Given the description of an element on the screen output the (x, y) to click on. 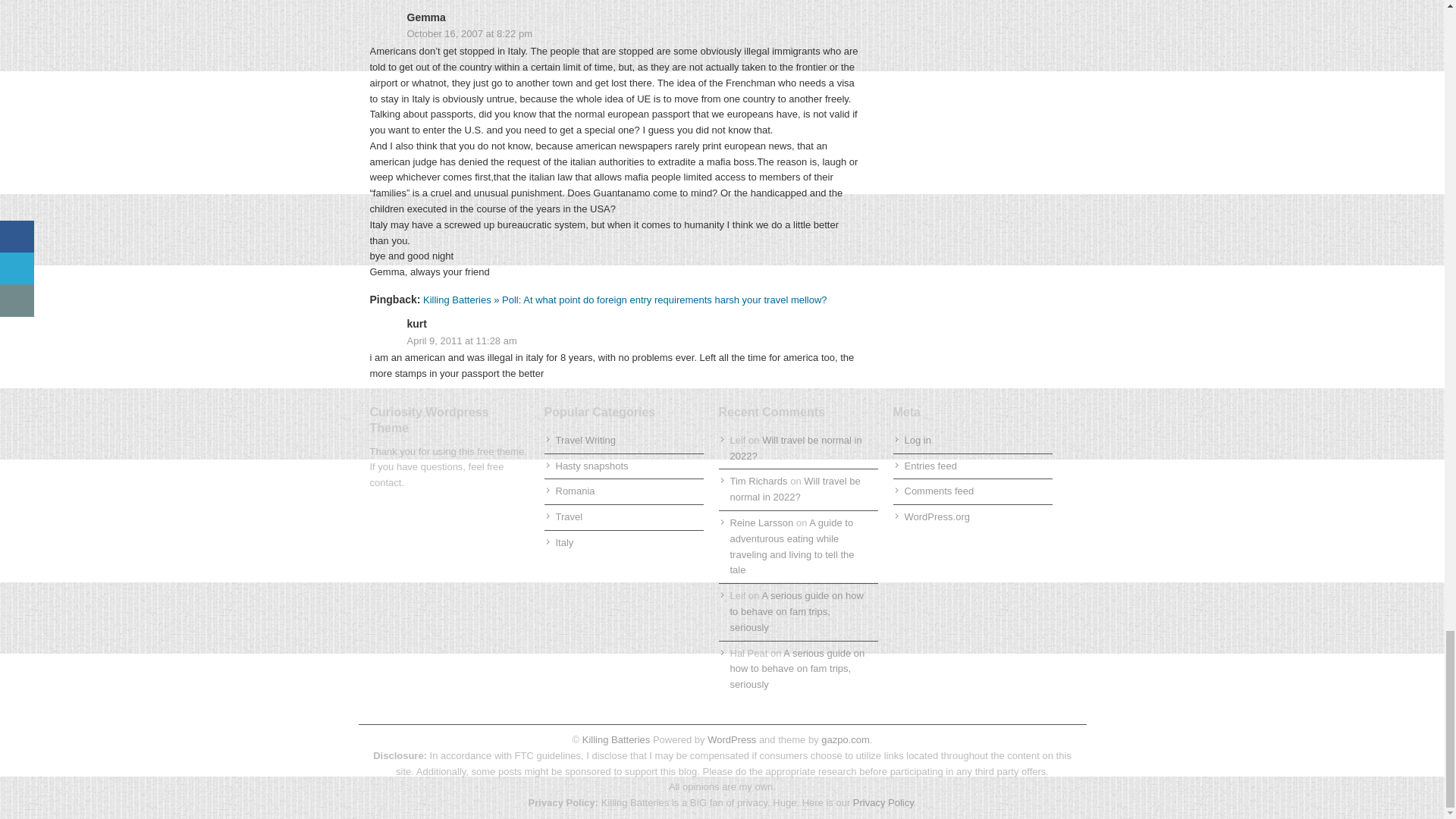
Travel Writing (584, 439)
Killing Batteries (614, 739)
Romania (574, 490)
Hasty snapshots (590, 465)
Travel (568, 516)
Will travel be normal in 2022? (795, 447)
October 16, 2007 at 8:22 pm (614, 34)
Tim Richards (758, 480)
April 9, 2011 at 11:28 am (614, 341)
Italy (563, 542)
